Given the description of an element on the screen output the (x, y) to click on. 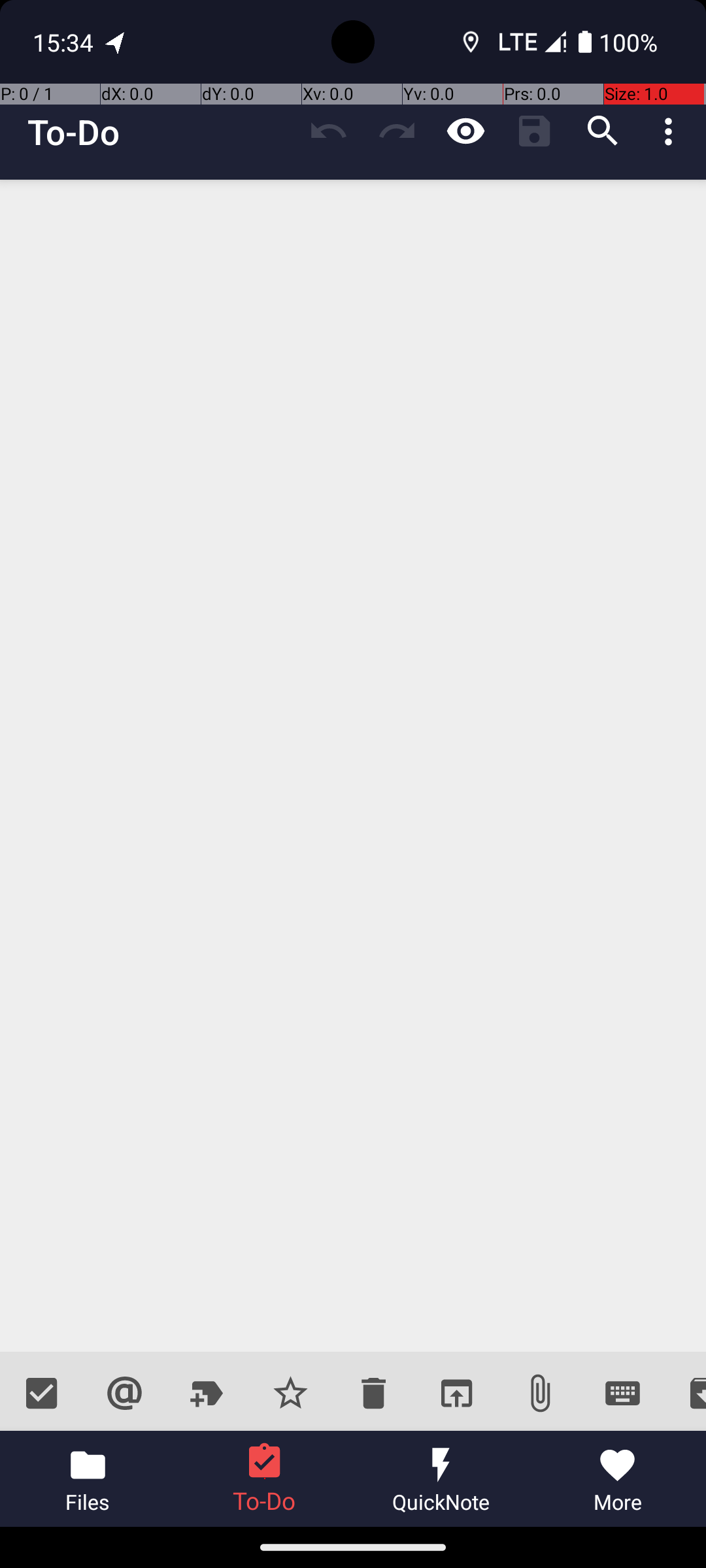
OpenTracks notification:  Element type: android.widget.ImageView (115, 41)
